Given the description of an element on the screen output the (x, y) to click on. 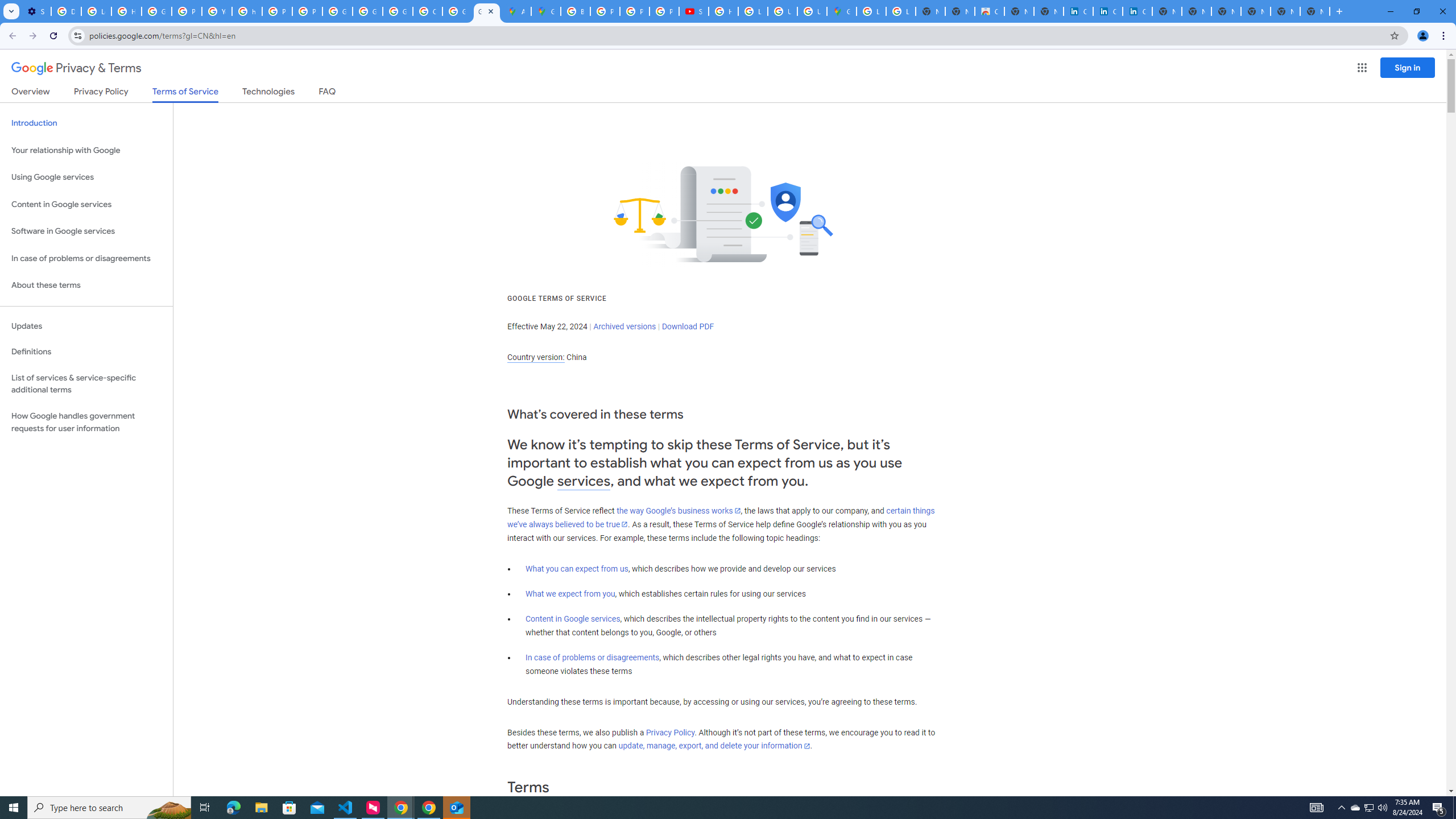
YouTube (216, 11)
Google Account Help (156, 11)
Learn how to find your photos - Google Photos Help (95, 11)
Updates (86, 325)
Blogger Policies and Guidelines - Transparency Center (575, 11)
How Google handles government requests for user information (86, 422)
